Given the description of an element on the screen output the (x, y) to click on. 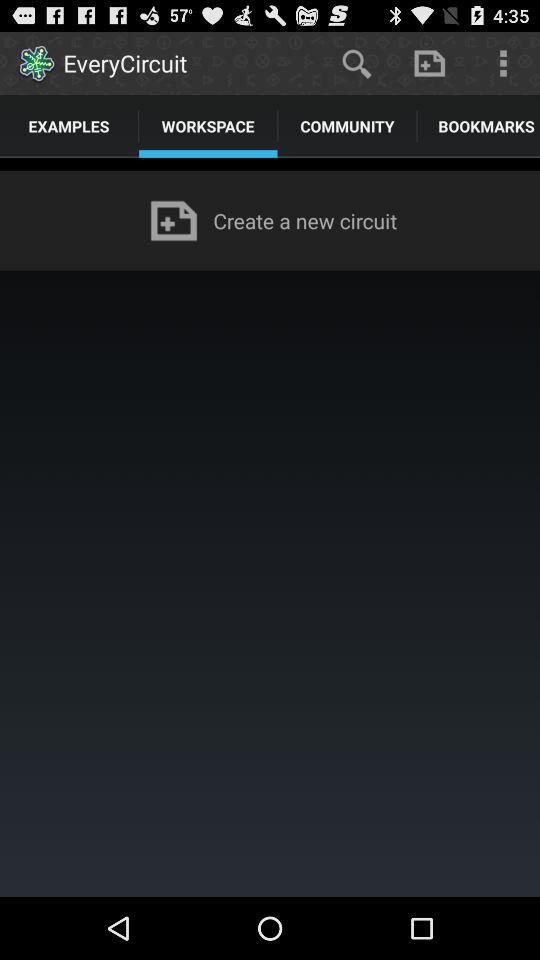
open icon to the right of everycircuit app (356, 62)
